Given the description of an element on the screen output the (x, y) to click on. 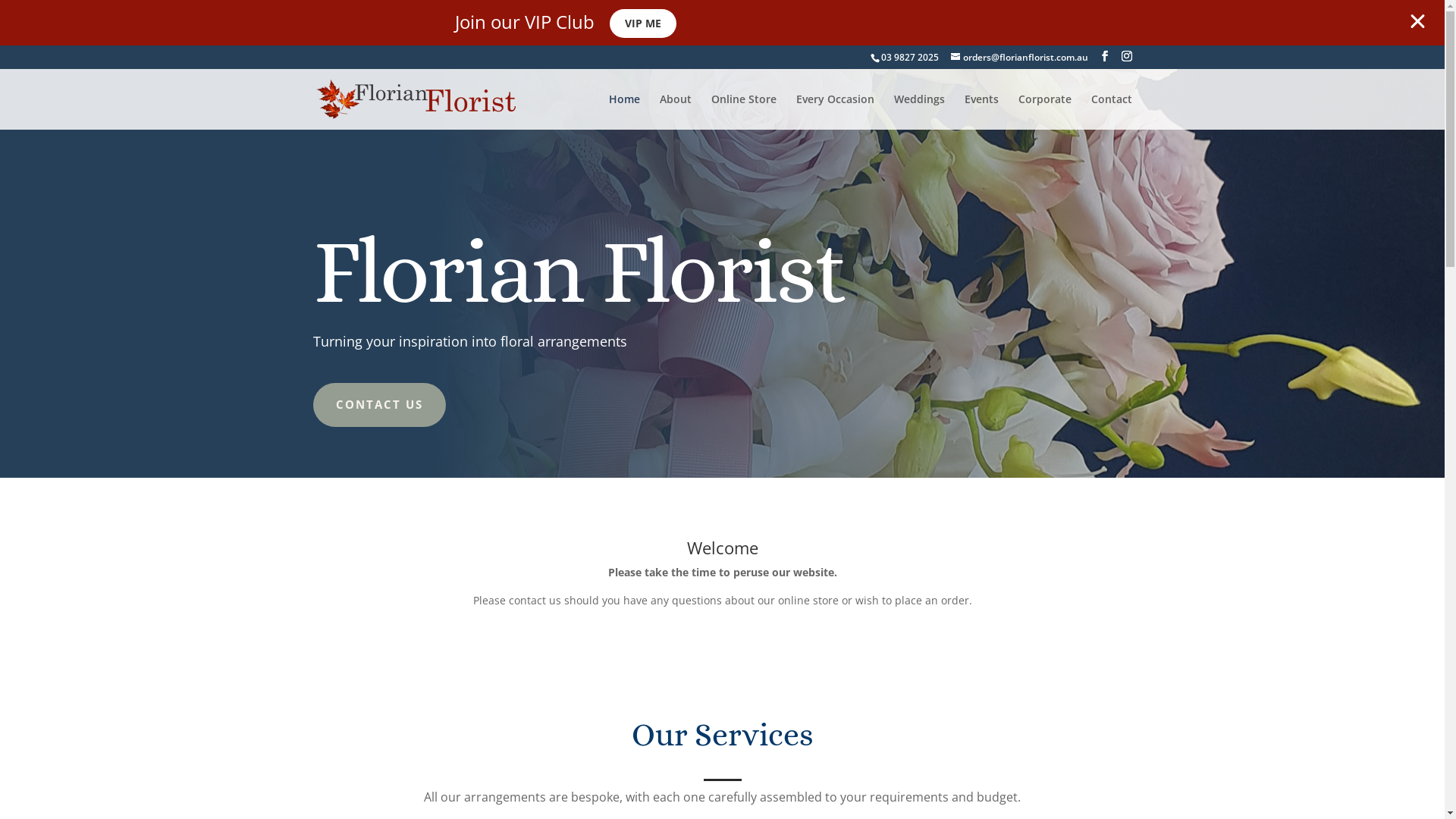
Online Store Element type: text (743, 111)
Contact Element type: text (1110, 111)
Home Element type: text (623, 111)
Corporate Element type: text (1043, 111)
03 9827 2025 Element type: text (909, 56)
Weddings Element type: text (918, 111)
CONTACT US Element type: text (378, 404)
VIP ME Element type: text (642, 23)
Every Occasion Element type: text (835, 111)
Events Element type: text (981, 111)
orders@florianflorist.com.au Element type: text (1019, 56)
About Element type: text (675, 111)
